Given the description of an element on the screen output the (x, y) to click on. 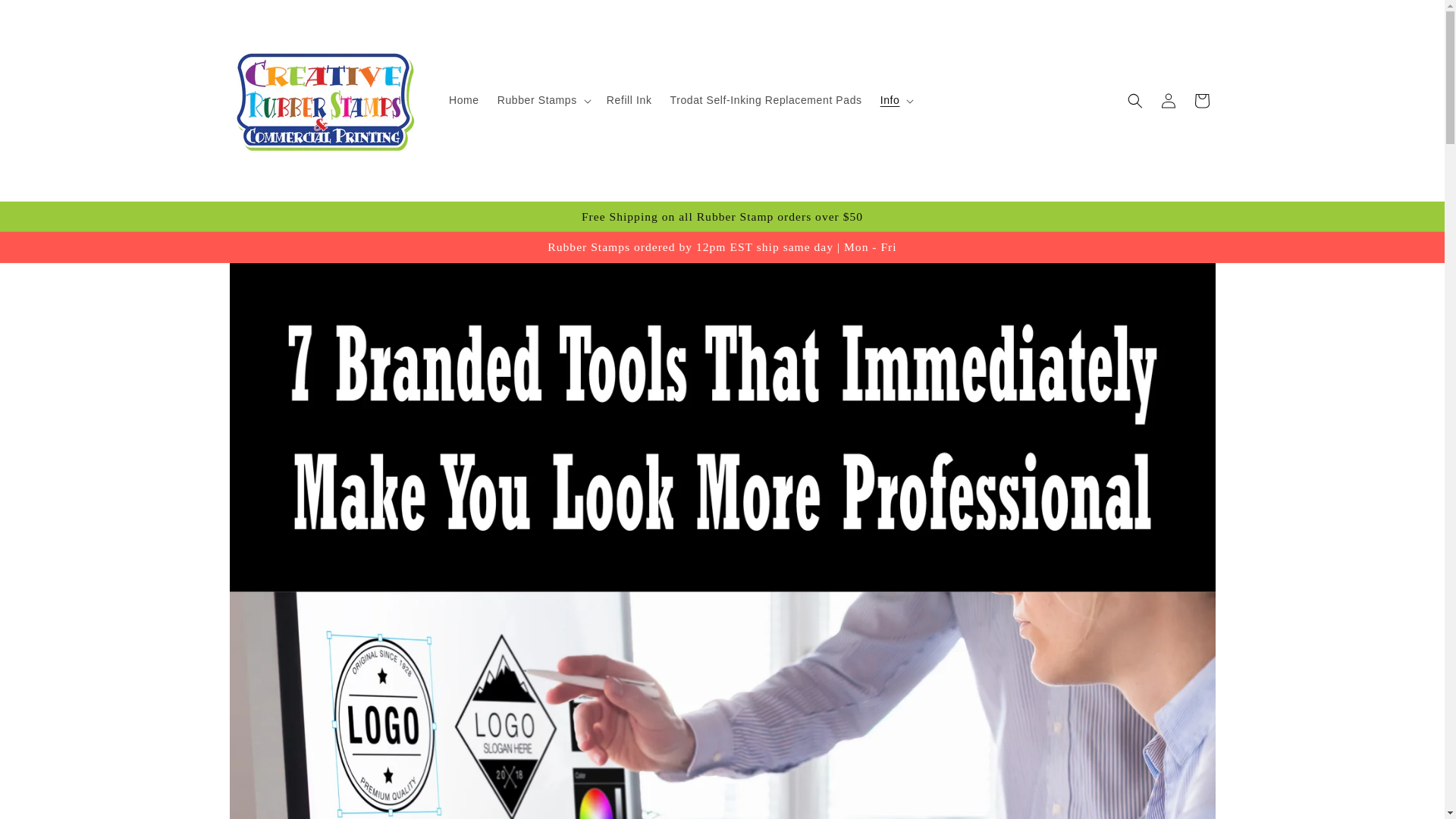
Log in (1168, 100)
Cart (1201, 100)
Refill Ink (628, 100)
Skip to content (45, 17)
Trodat Self-Inking Replacement Pads (765, 100)
Home (463, 100)
